Given the description of an element on the screen output the (x, y) to click on. 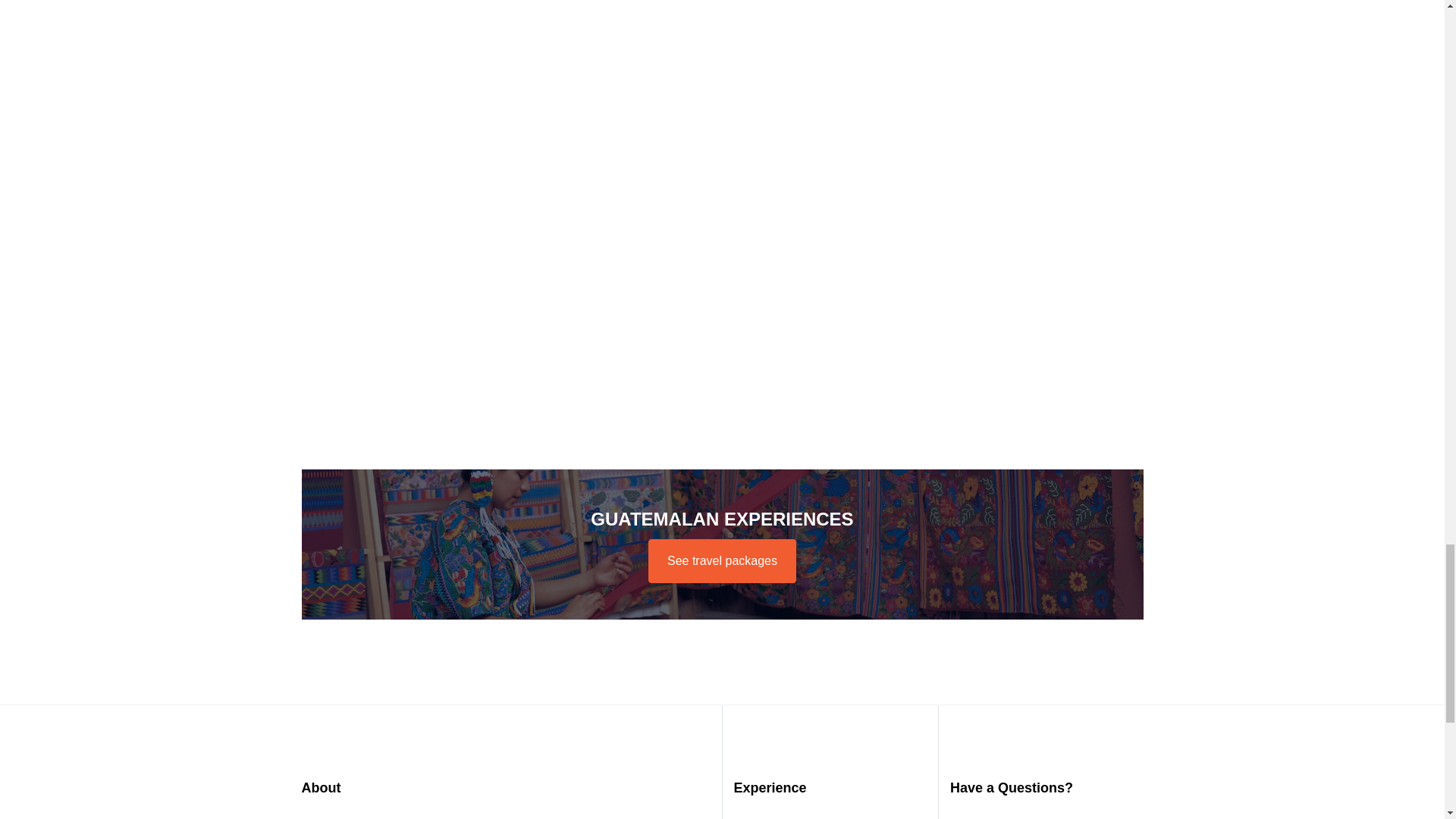
See travel packages (721, 560)
